Given the description of an element on the screen output the (x, y) to click on. 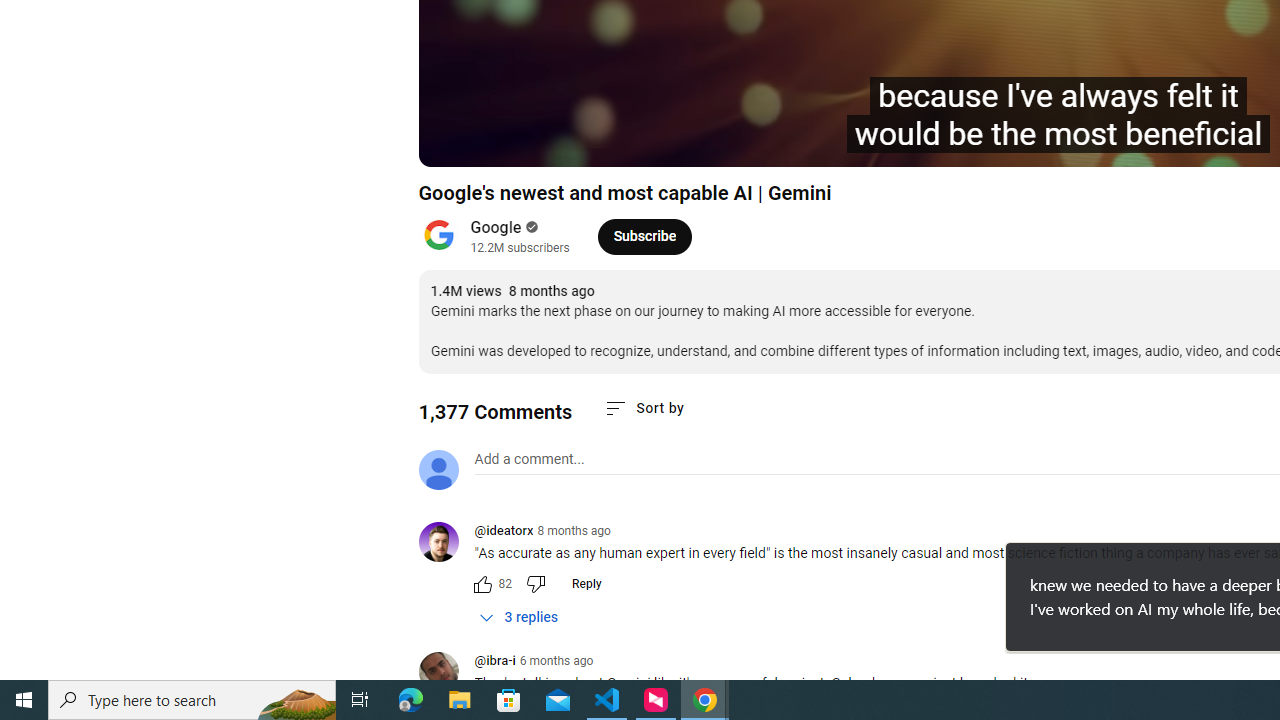
Previous (SHIFT+p) (456, 142)
Subscribe to Google. (644, 236)
@ideatorx (503, 532)
Like this comment along with 82 other people (482, 583)
6 months ago (555, 661)
AutomationID: simplebox-placeholder (528, 459)
